Given the description of an element on the screen output the (x, y) to click on. 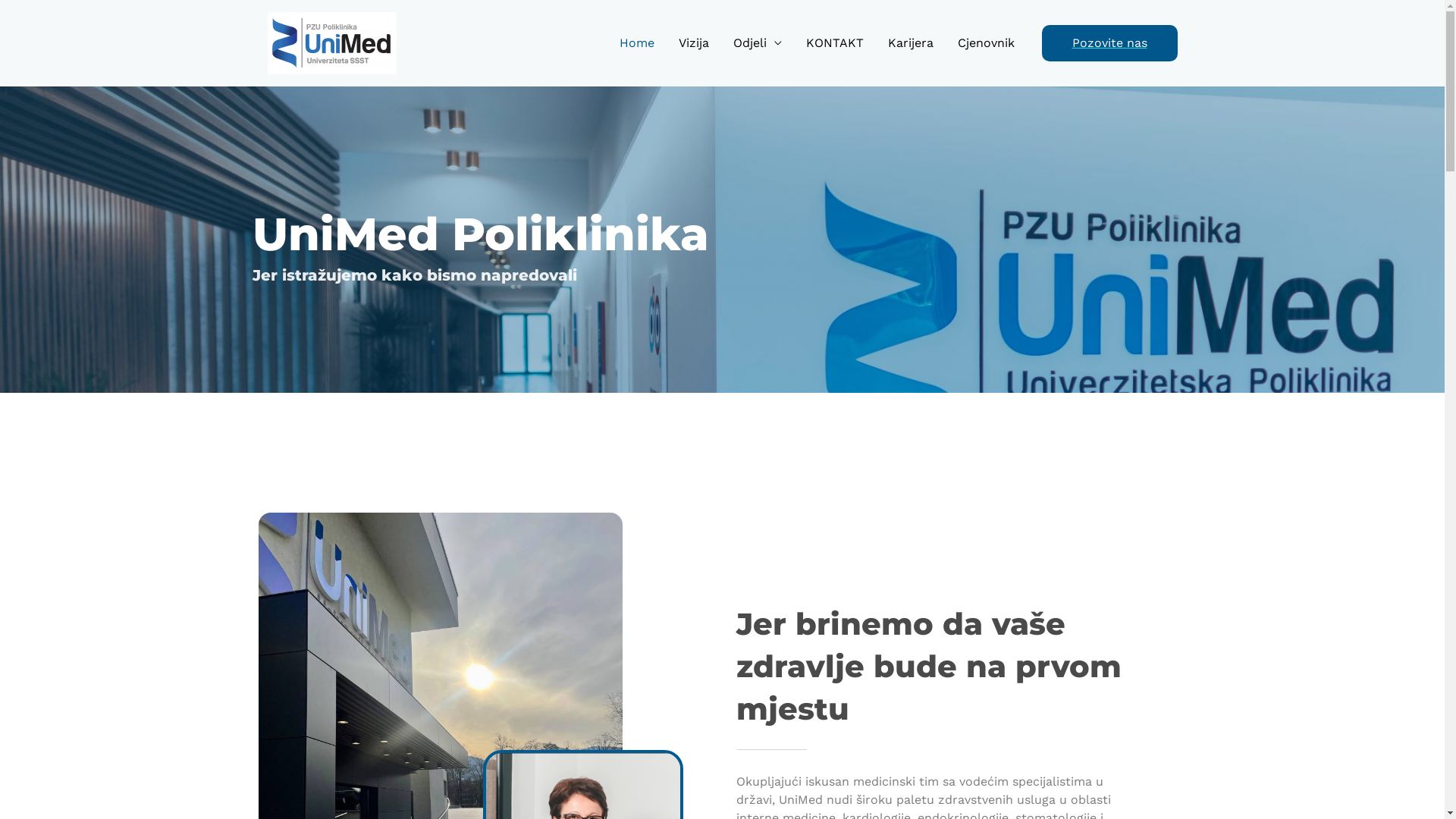
Cjenovnik Element type: text (985, 42)
KONTAKT Element type: text (834, 42)
Home Element type: text (635, 42)
Vizija Element type: text (692, 42)
Pozovite nas Element type: text (1109, 43)
Karijera Element type: text (909, 42)
Odjeli Element type: text (756, 42)
